Given the description of an element on the screen output the (x, y) to click on. 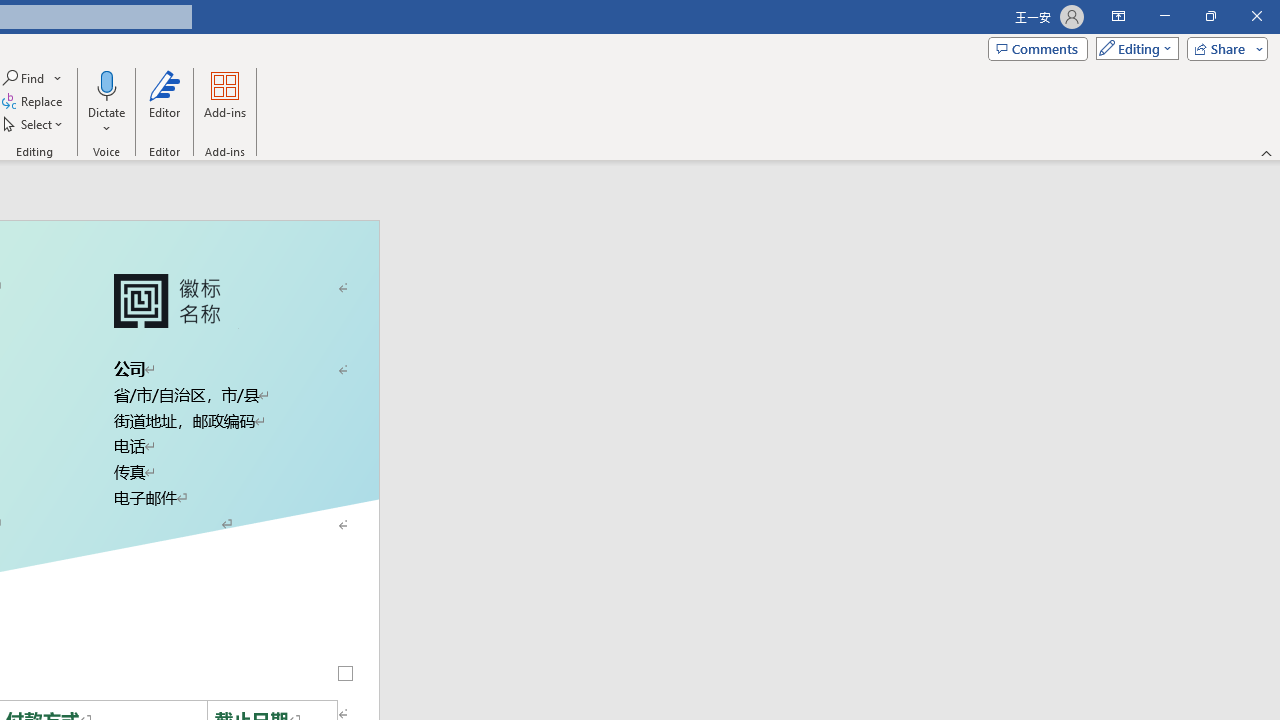
Collapse the Ribbon (1267, 152)
Restore Down (1210, 16)
Comments (1038, 48)
Dictate (106, 84)
Editor (164, 102)
More Options (106, 121)
Close (1256, 16)
Ribbon Display Options (1118, 16)
Minimize (1164, 16)
Dictate (106, 102)
Mode (1133, 47)
Share (1223, 48)
